Given the description of an element on the screen output the (x, y) to click on. 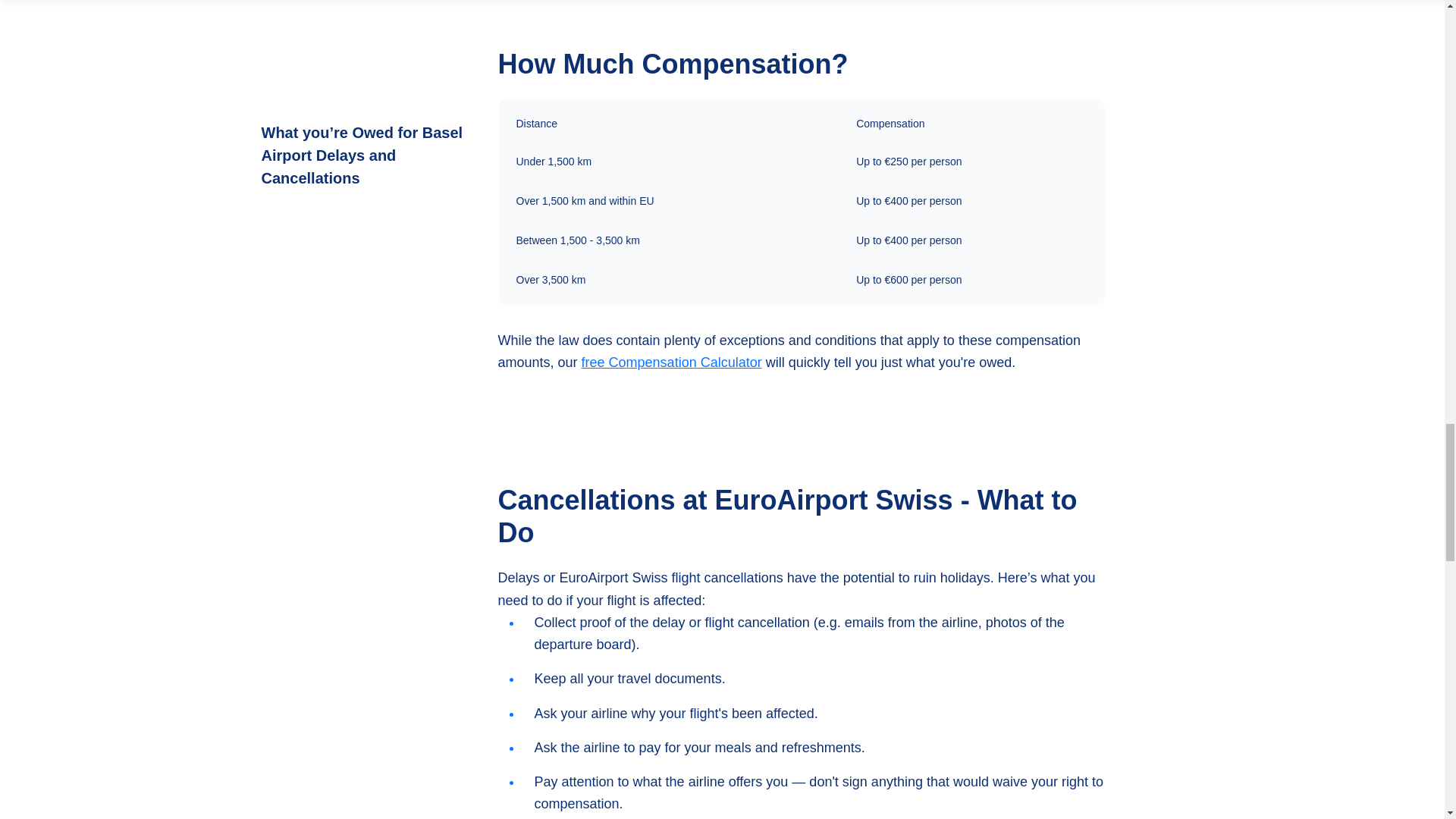
free Compensation Calculator (670, 362)
